Given the description of an element on the screen output the (x, y) to click on. 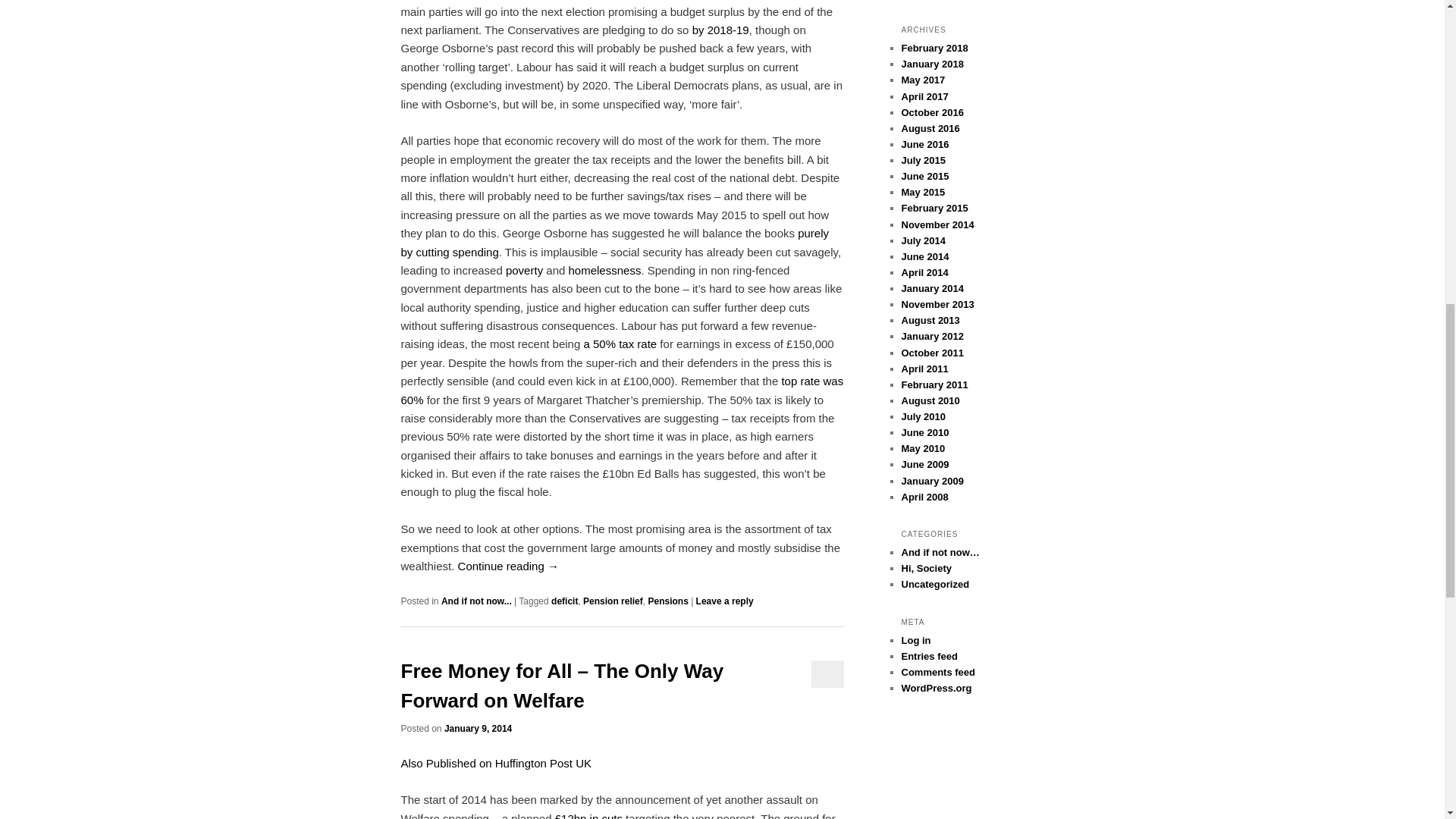
Also Published on Huffington Post UK  (497, 762)
Pension relief (613, 601)
homelessness (605, 269)
poverty (524, 269)
And if not now... (476, 601)
by 2018-19 (721, 29)
January 9, 2014 (478, 728)
deficit (564, 601)
purely by cutting spending (614, 241)
10:32 am (478, 728)
